Given the description of an element on the screen output the (x, y) to click on. 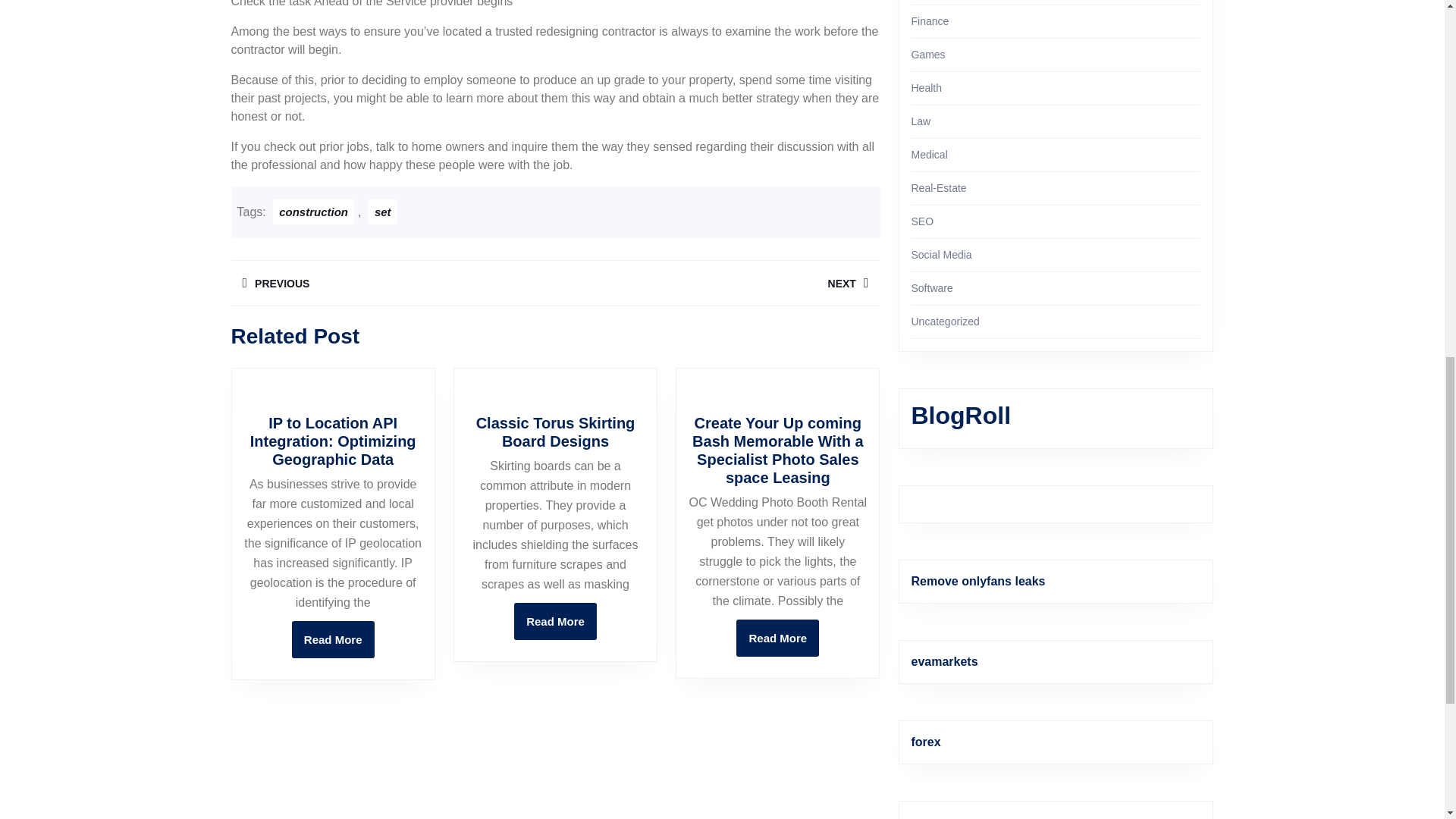
Law (921, 121)
Medical (929, 154)
Real-Estate (938, 187)
Finance (716, 283)
